Given the description of an element on the screen output the (x, y) to click on. 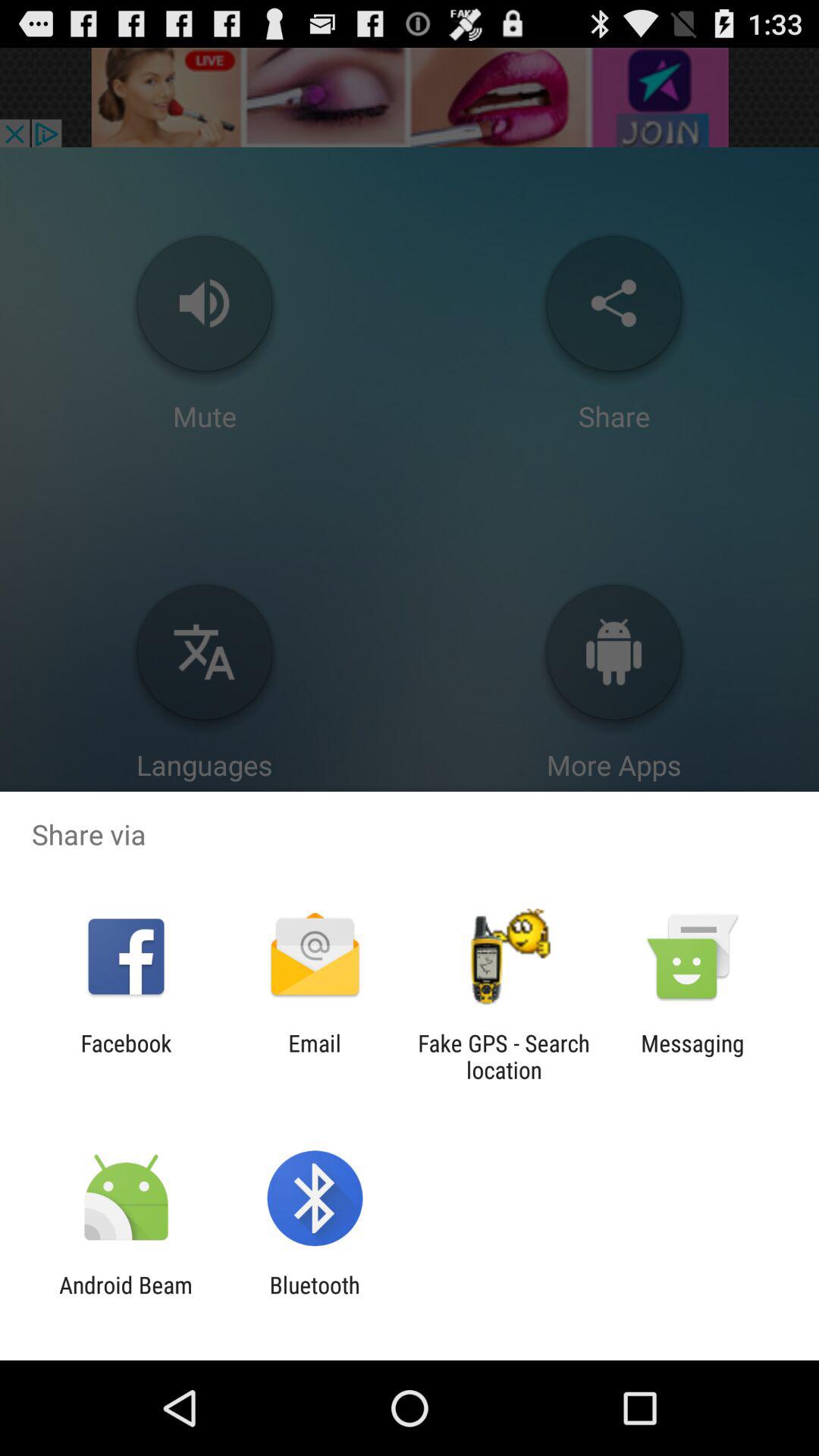
turn off icon to the right of android beam icon (314, 1298)
